Given the description of an element on the screen output the (x, y) to click on. 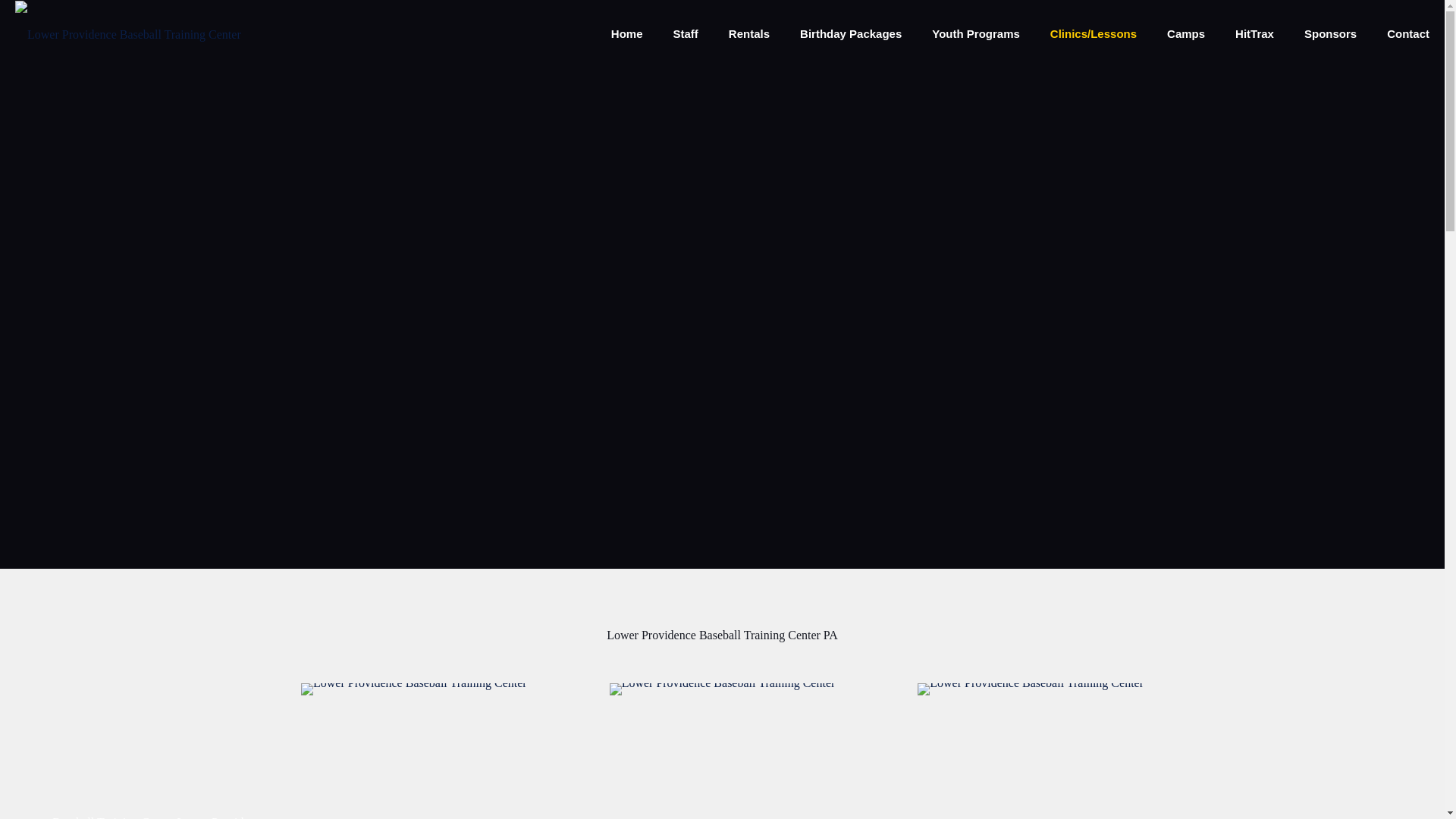
Sponsors (1329, 33)
HitTrax (1254, 33)
Youth Programs (976, 33)
Home (626, 33)
Camps (1185, 33)
Staff (685, 33)
Contact (1407, 33)
The Coliseum Sports Complex (127, 33)
Rentals (748, 33)
Birthday Packages (850, 33)
